Given the description of an element on the screen output the (x, y) to click on. 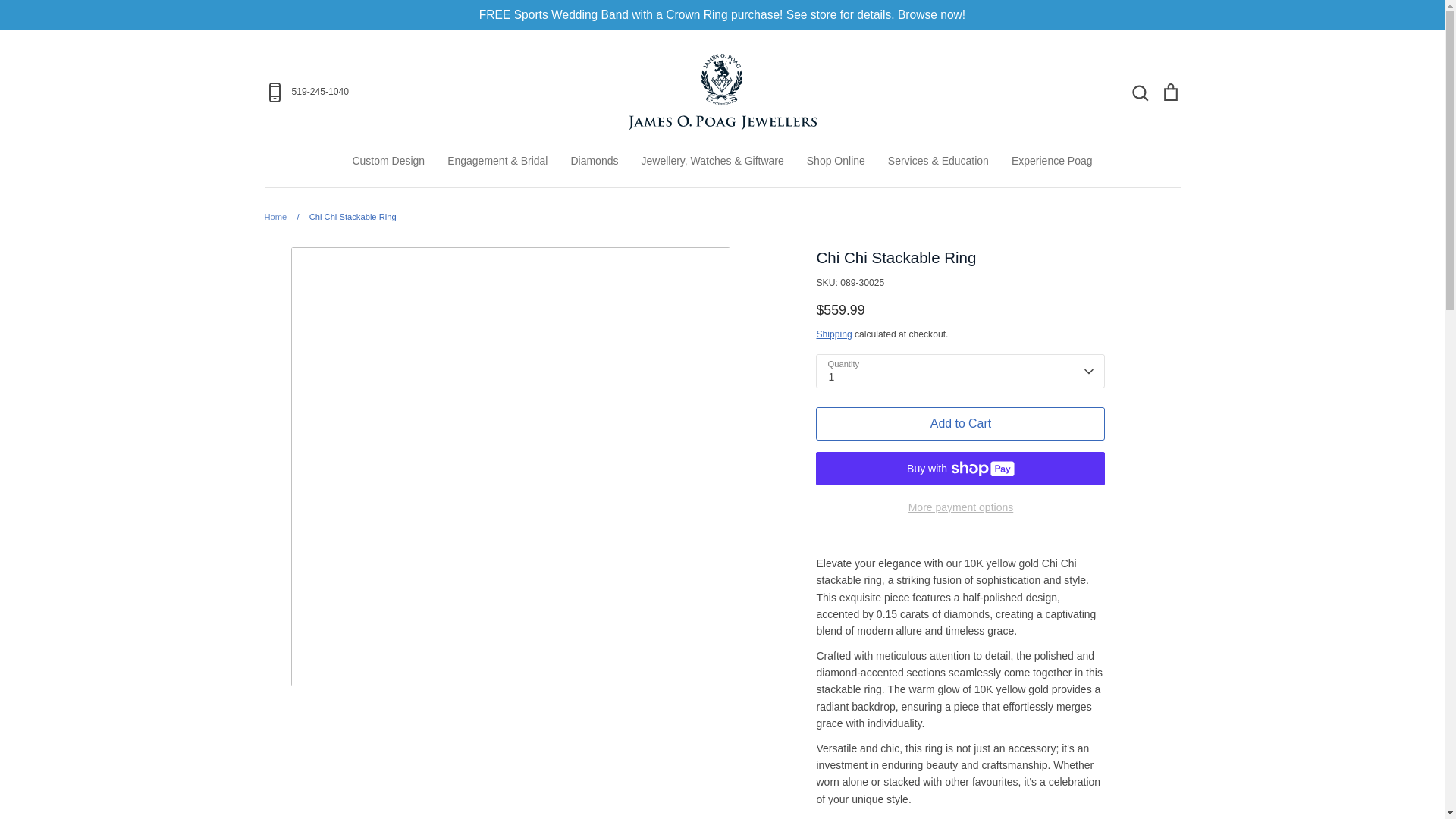
Search (1139, 91)
Cart (1169, 91)
Custom Design (388, 160)
Diamonds (593, 160)
519-245-1040 (414, 92)
